Given the description of an element on the screen output the (x, y) to click on. 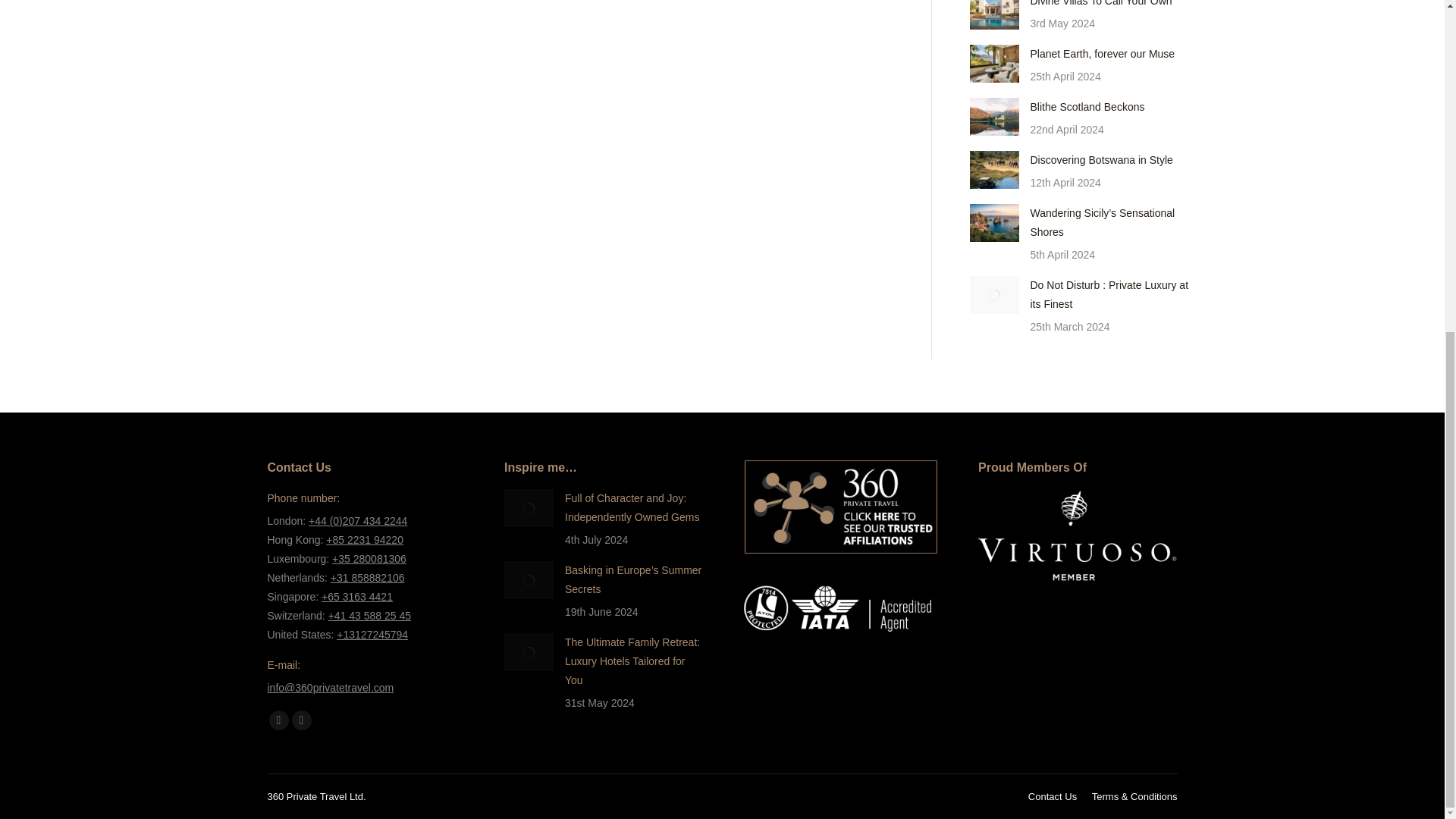
Facebook page opens in new window (277, 720)
Instagram page opens in new window (301, 720)
